Given the description of an element on the screen output the (x, y) to click on. 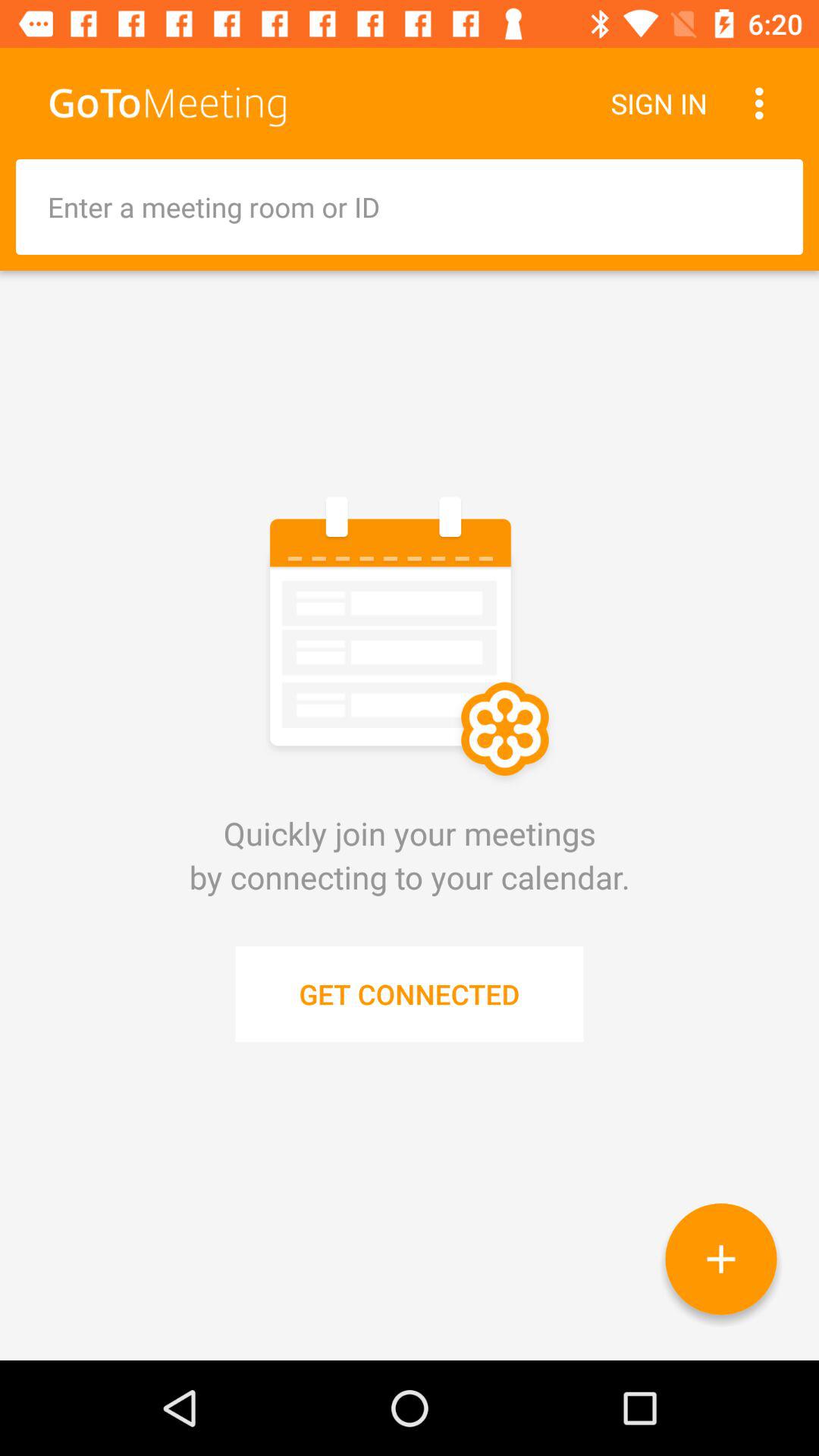
jump until sign in icon (658, 103)
